Given the description of an element on the screen output the (x, y) to click on. 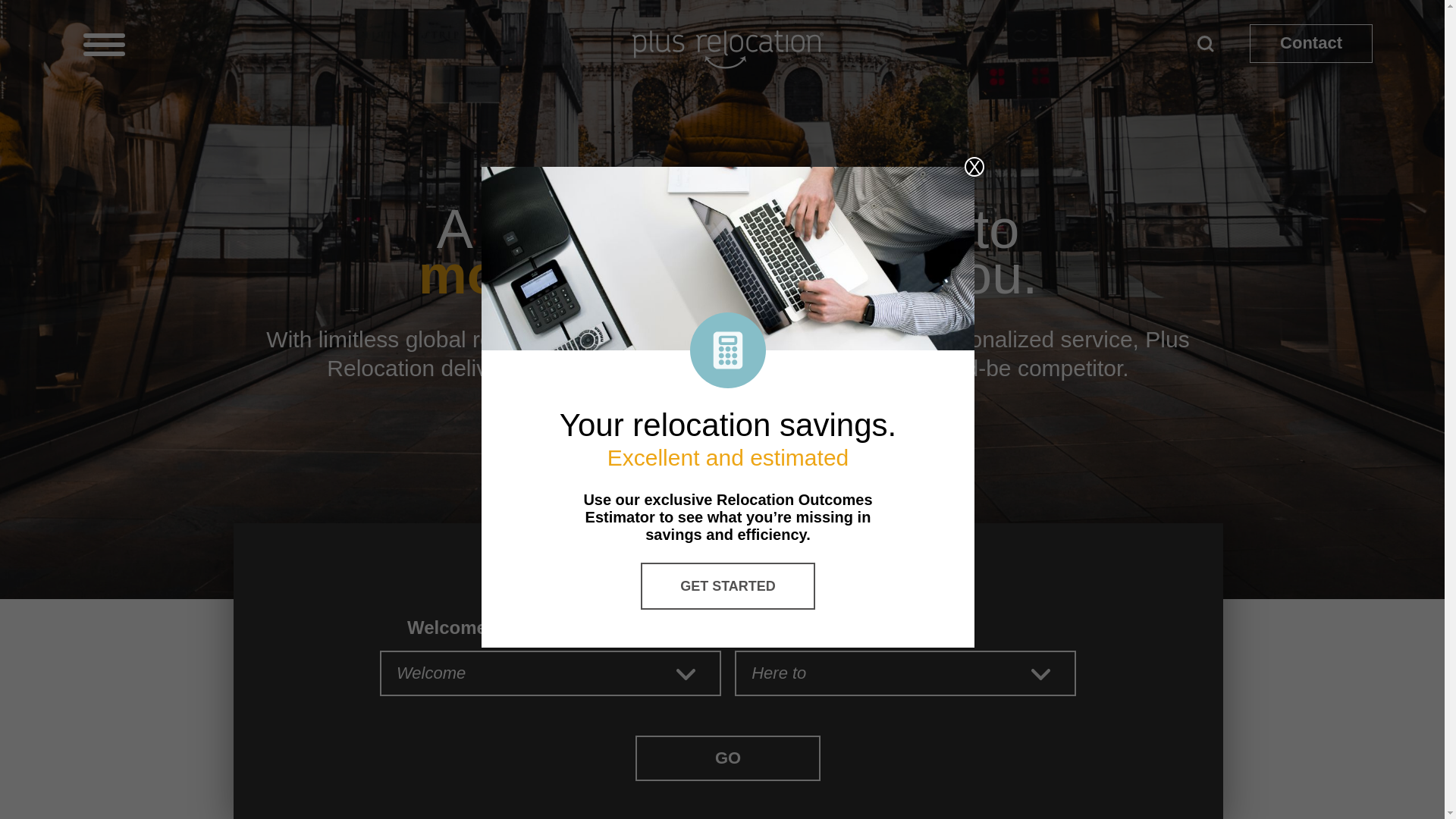
Here to (905, 672)
GO (727, 758)
Contact (1311, 43)
GO (727, 758)
Welcome (550, 672)
Plus Relocation (727, 49)
